Given the description of an element on the screen output the (x, y) to click on. 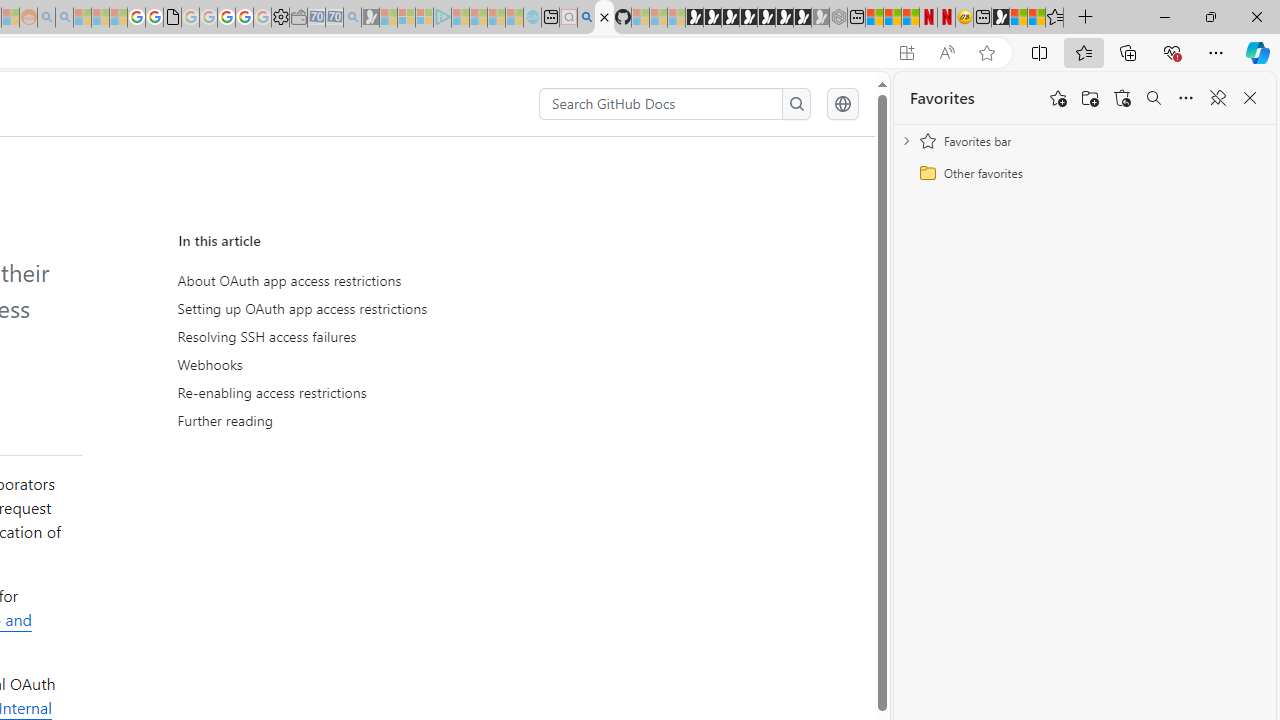
About OAuth app access restrictions - GitHub Docs (604, 17)
Re-enabling access restrictions (362, 392)
Add this page to favorites (1058, 98)
Setting up OAuth app access restrictions (365, 309)
